Given the description of an element on the screen output the (x, y) to click on. 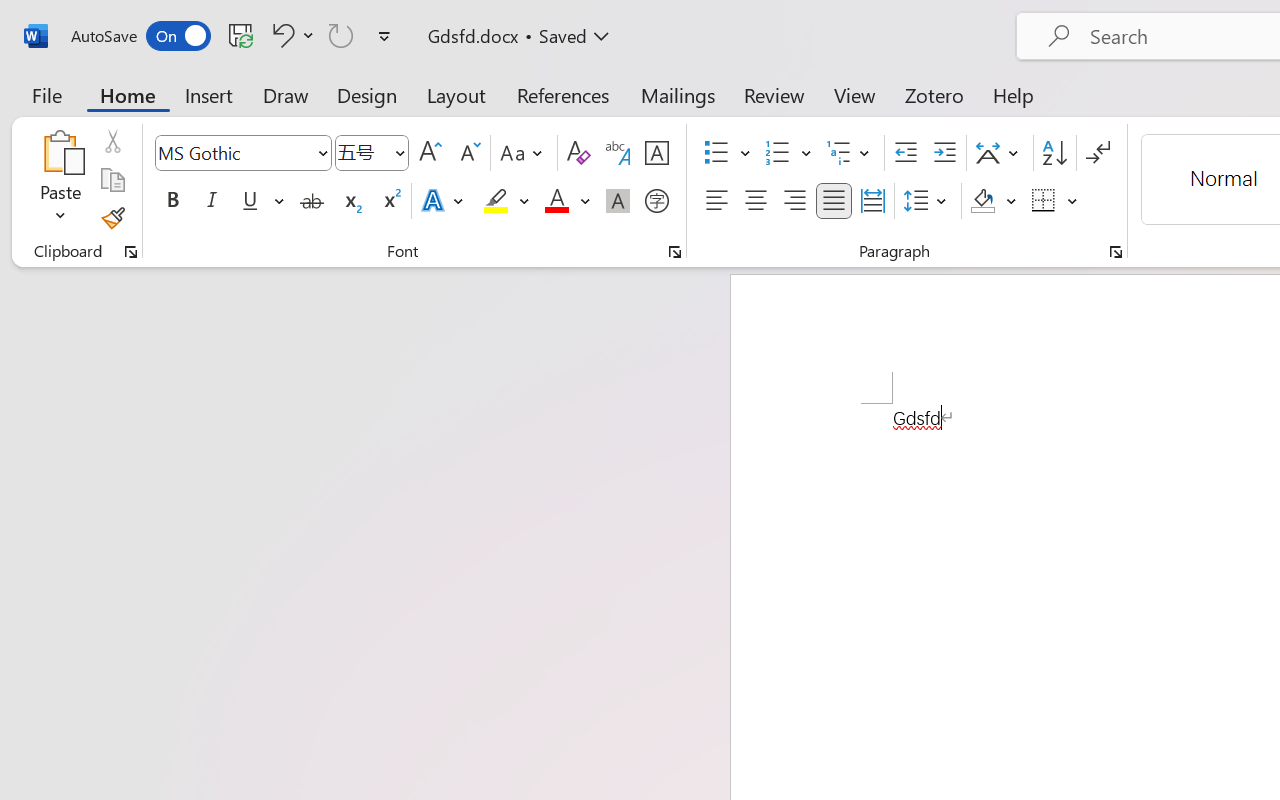
Can't Repeat (341, 35)
Undo Font Formatting (280, 35)
